Given the description of an element on the screen output the (x, y) to click on. 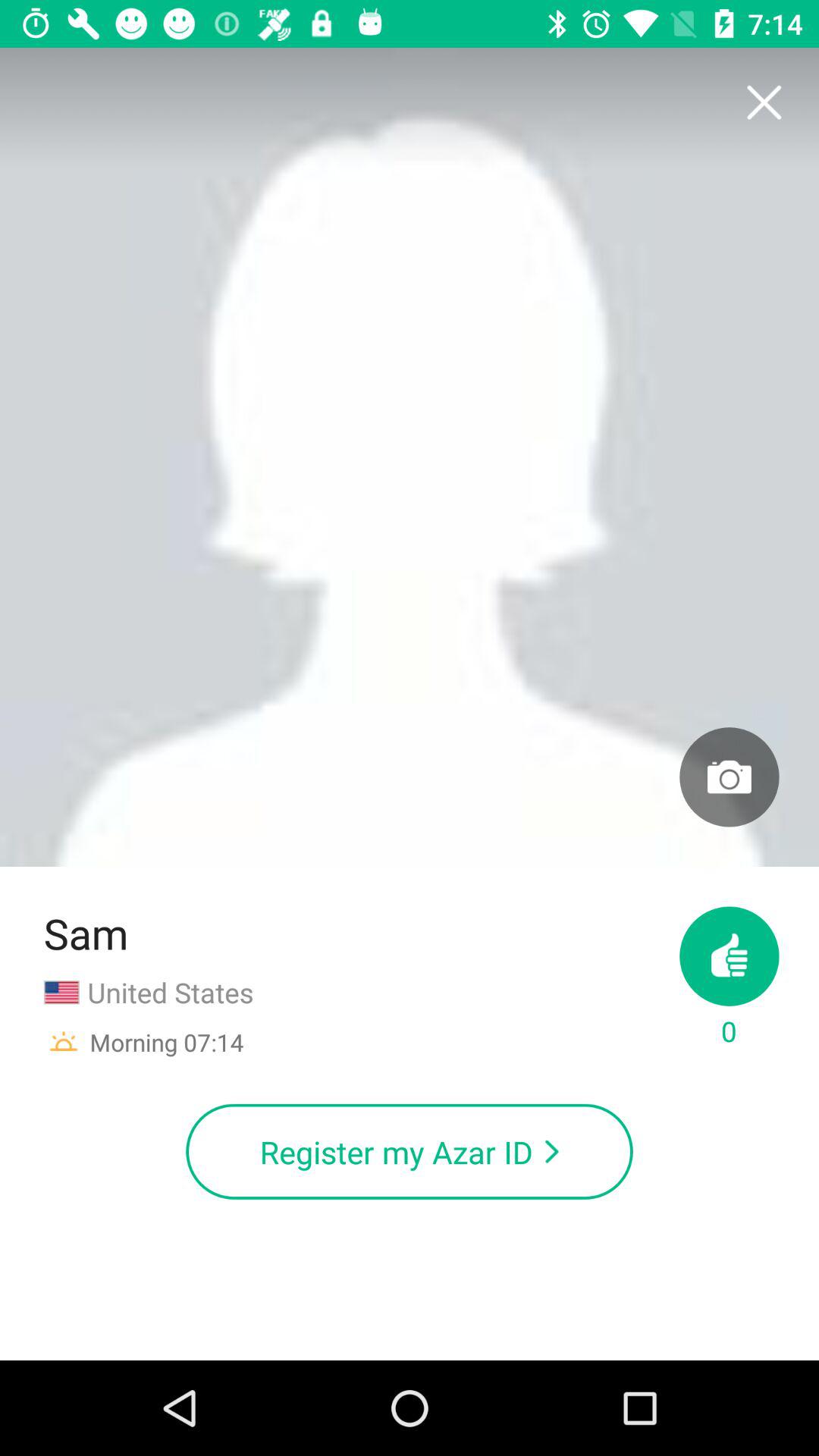
select icon above the sam icon (409, 456)
